Given the description of an element on the screen output the (x, y) to click on. 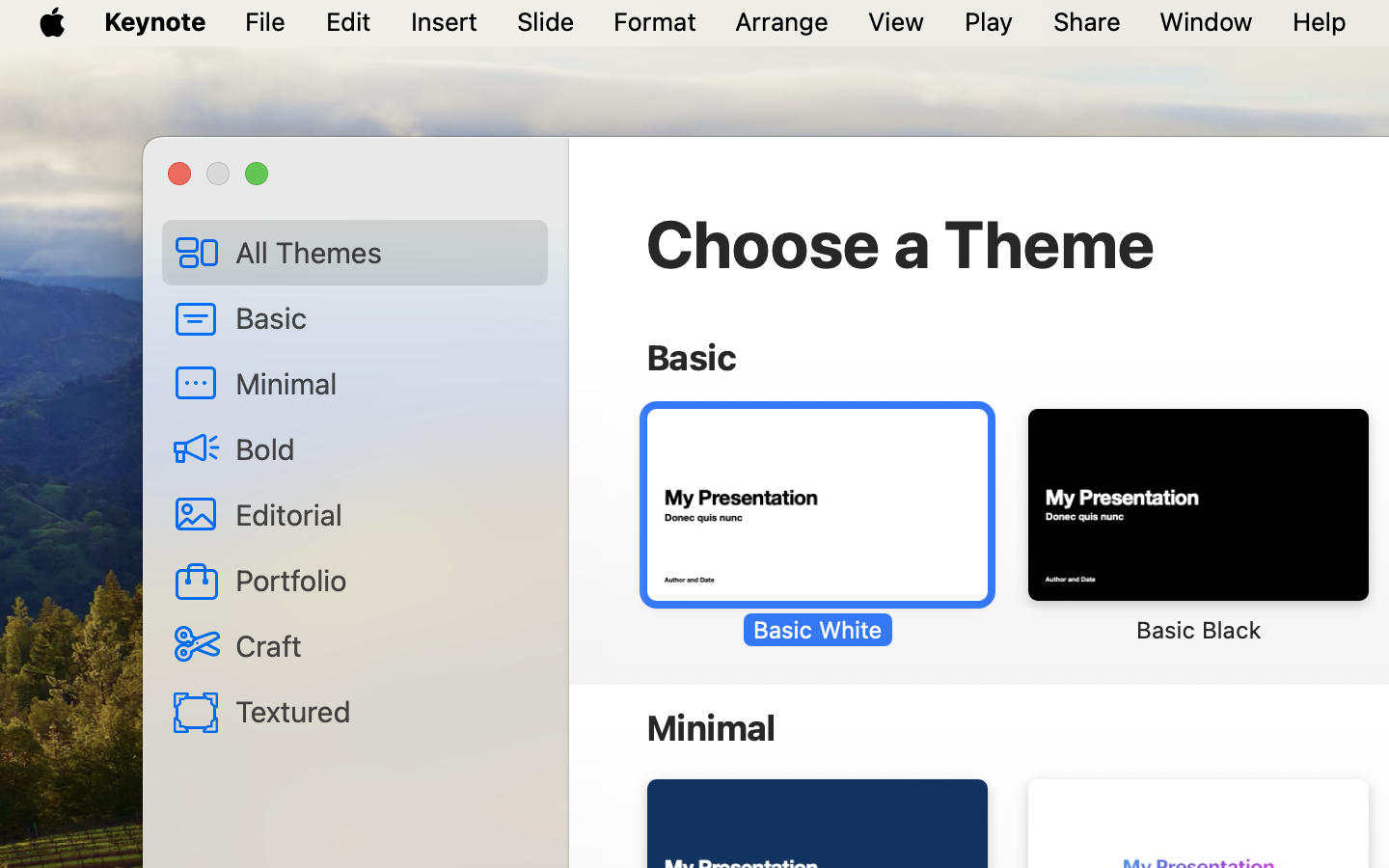
Basic Element type: AXStaticText (383, 316)
Editorial Element type: AXStaticText (383, 513)
Choose a Theme Element type: AXStaticText (900, 242)
Portfolio Element type: AXStaticText (383, 579)
Textured Element type: AXStaticText (383, 710)
